Given the description of an element on the screen output the (x, y) to click on. 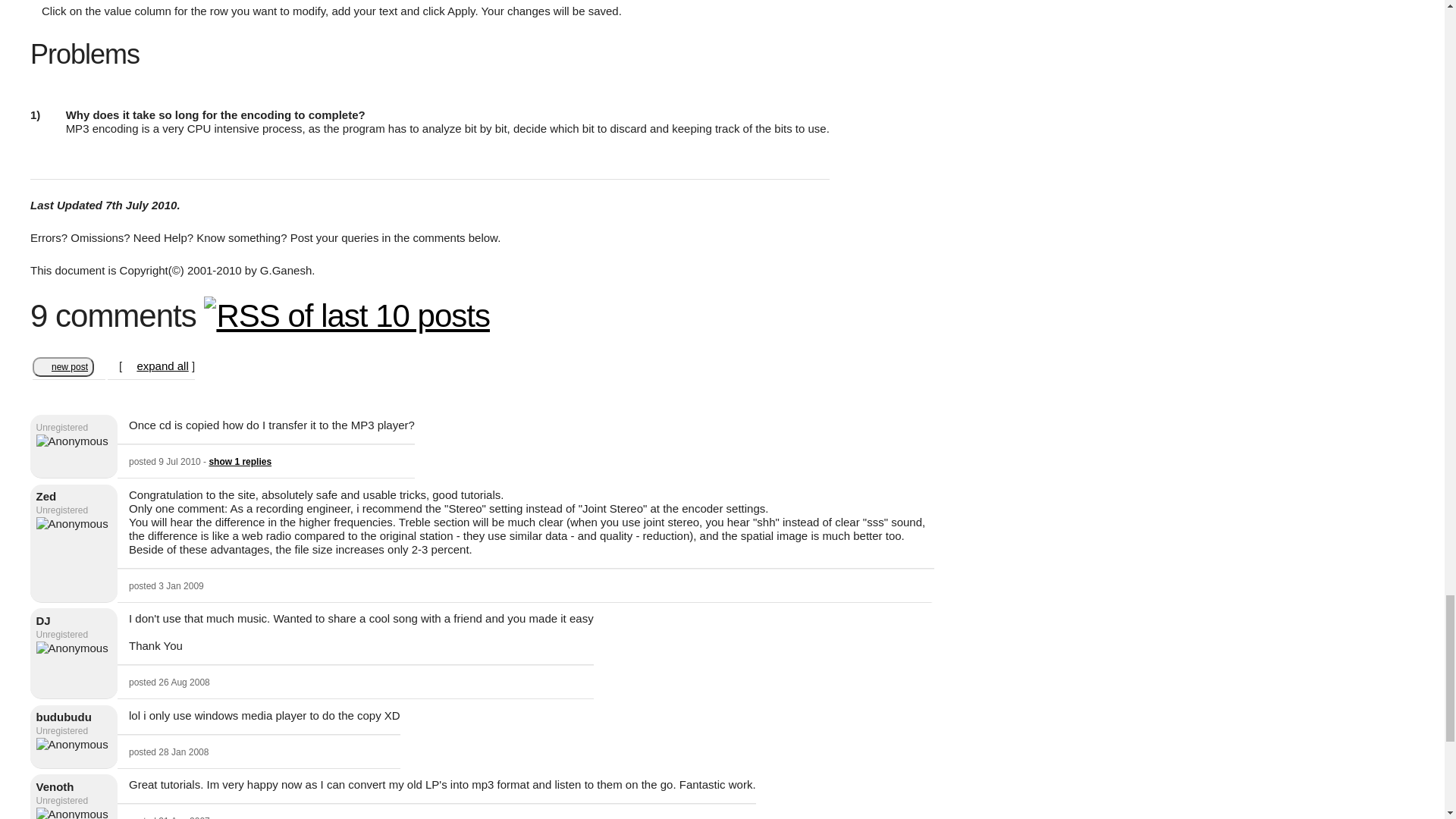
new post (63, 365)
Anonymous (71, 813)
expand all (161, 365)
show 1 replies (239, 461)
Anonymous (71, 523)
Anonymous (71, 648)
Anonymous (71, 744)
Anonymous (71, 440)
